Given the description of an element on the screen output the (x, y) to click on. 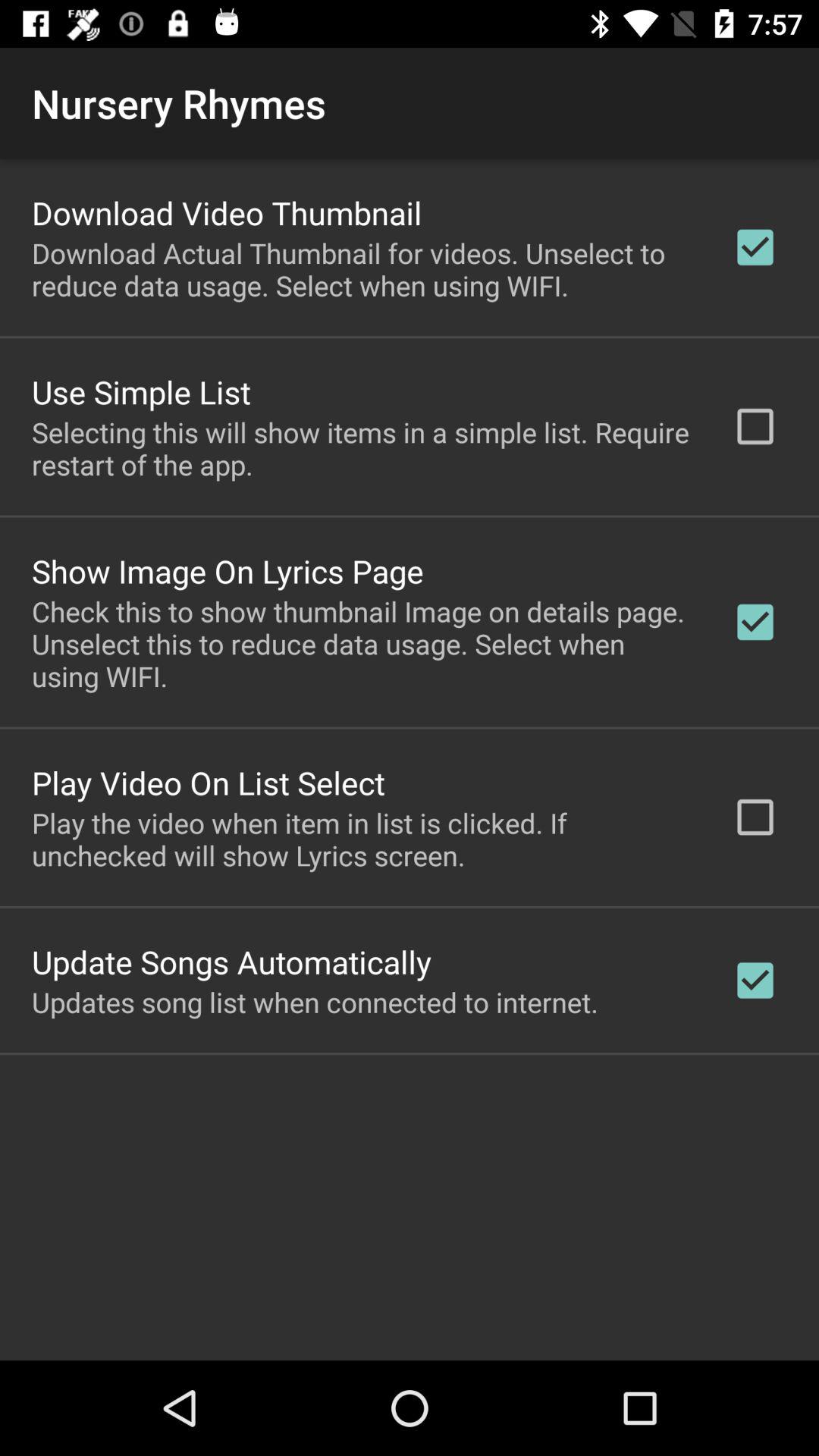
swipe to the check this to app (361, 643)
